Given the description of an element on the screen output the (x, y) to click on. 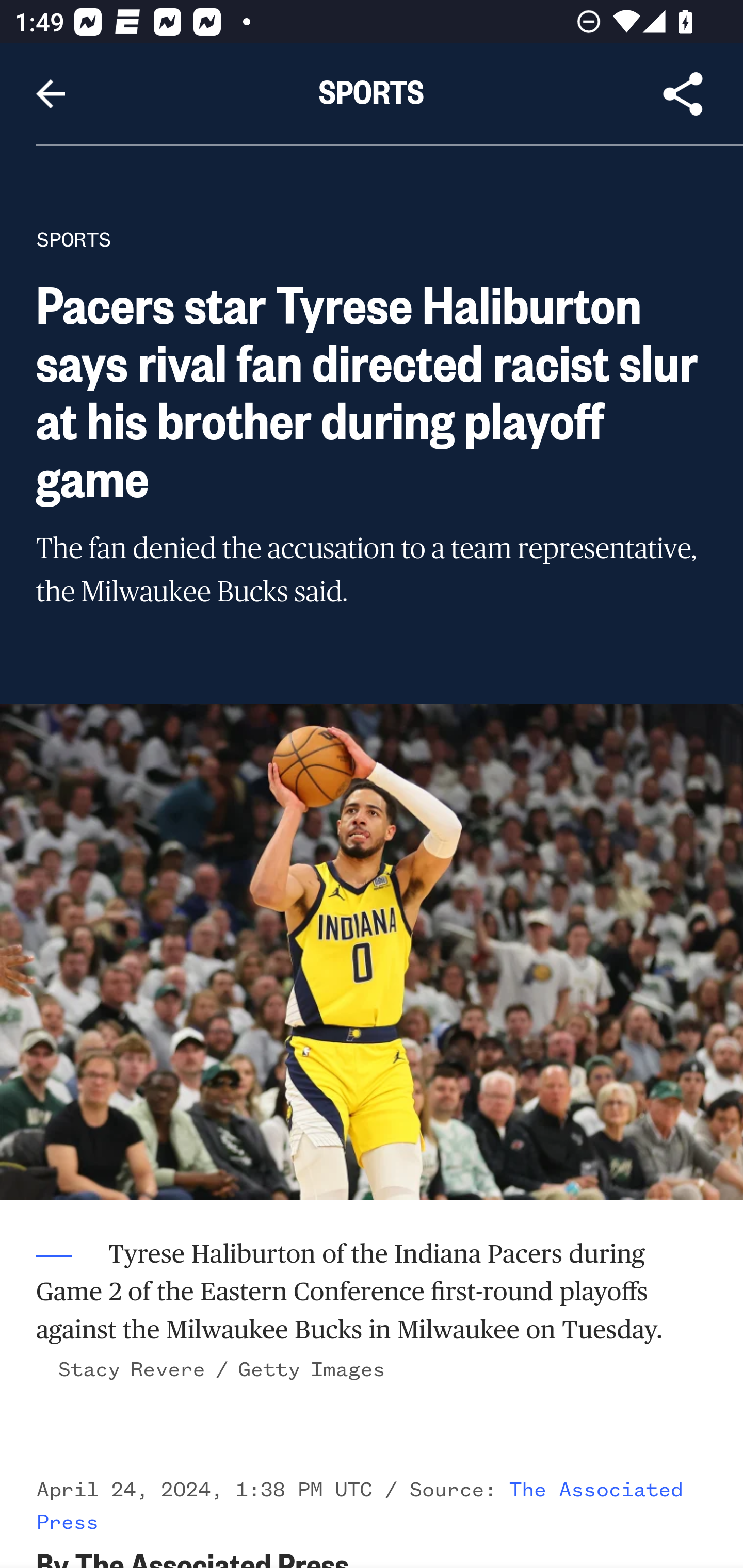
Navigate up (50, 93)
Share Article, button (683, 94)
